Given the description of an element on the screen output the (x, y) to click on. 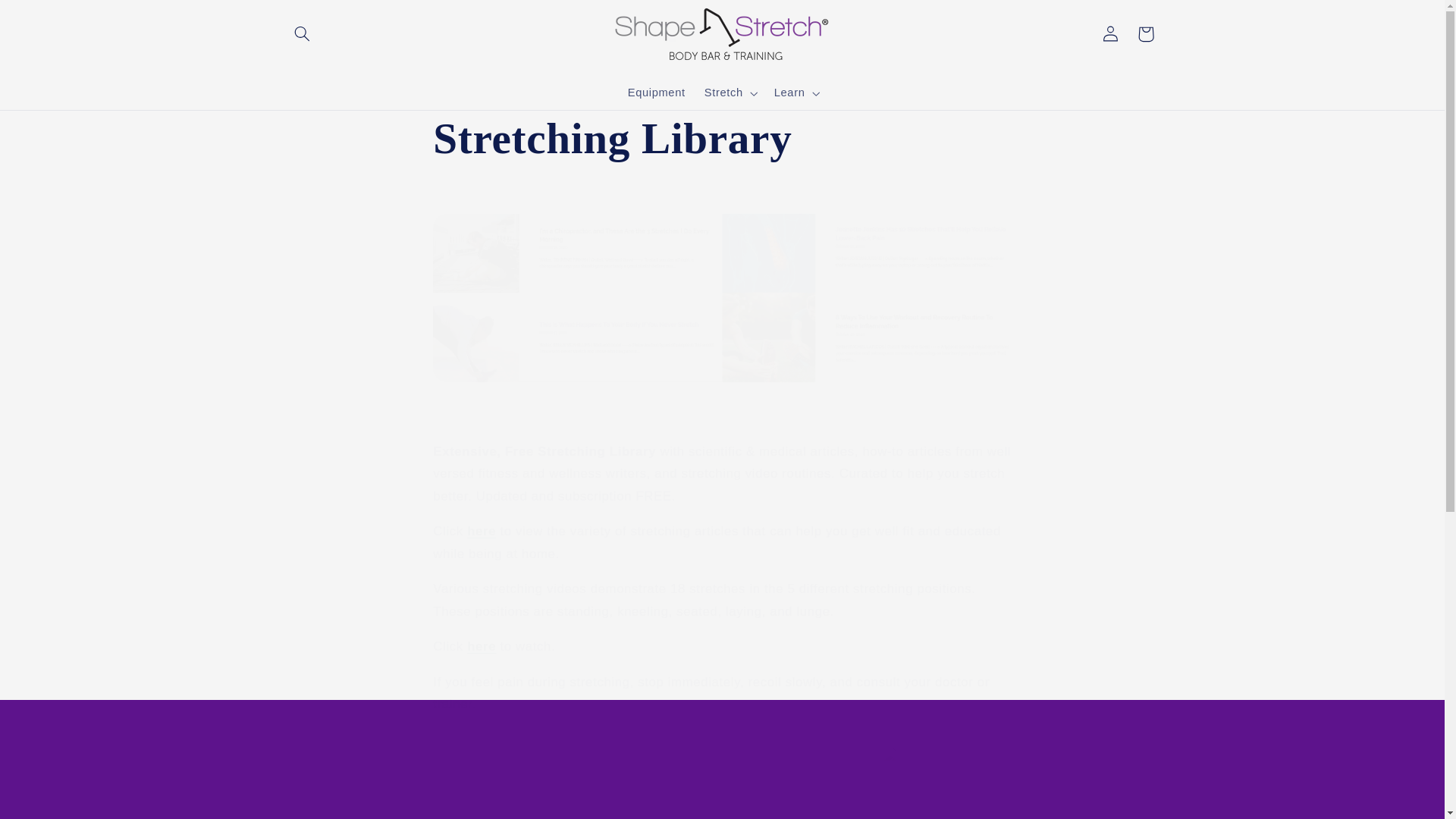
Stretching Library (721, 138)
Equipment (655, 92)
Skip to content (48, 18)
